Given the description of an element on the screen output the (x, y) to click on. 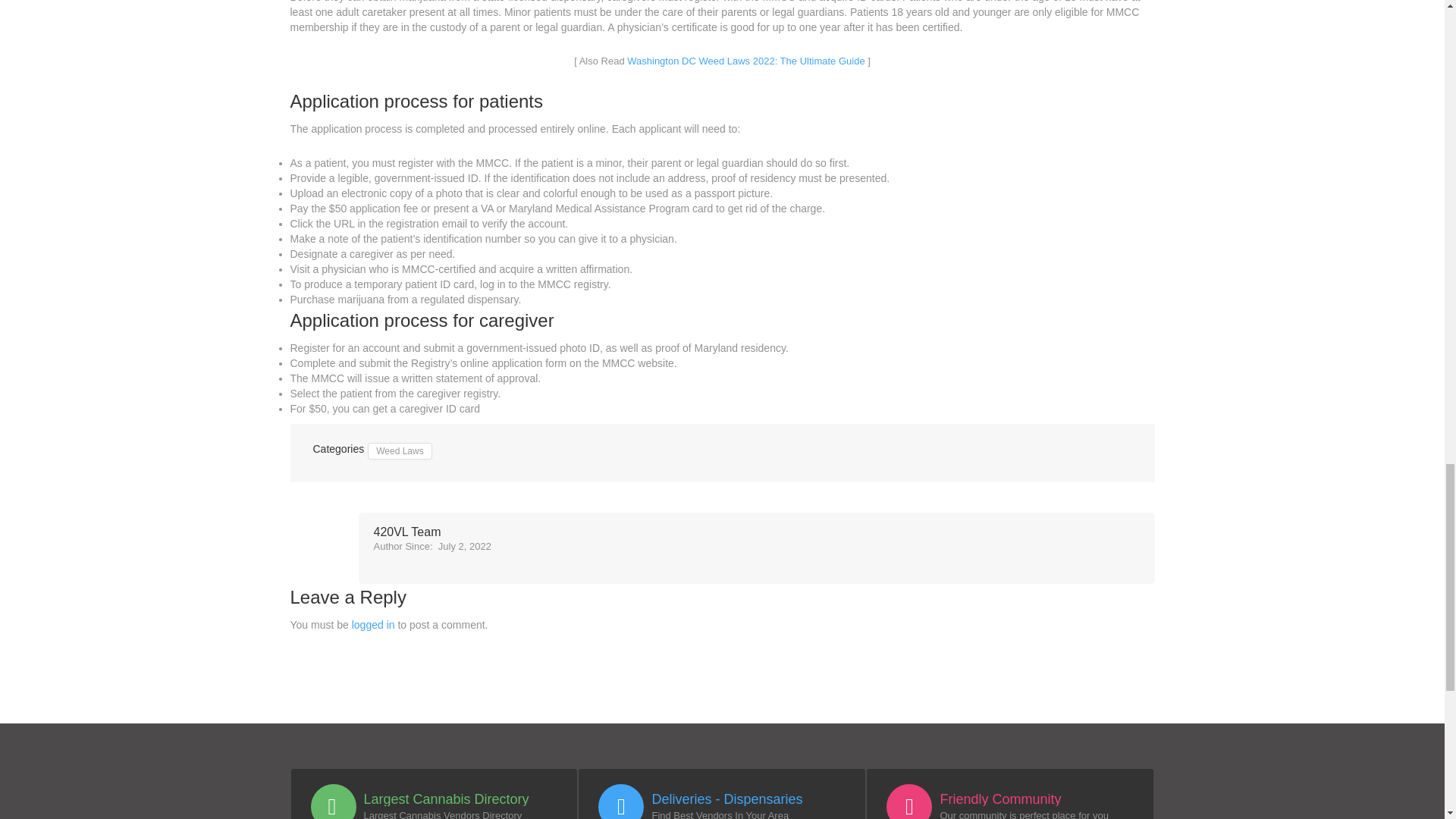
Weed Laws (399, 451)
420VL Team (431, 532)
Washington DC Weed Laws 2022: The Ultimate Guide (745, 60)
logged in (373, 624)
